Given the description of an element on the screen output the (x, y) to click on. 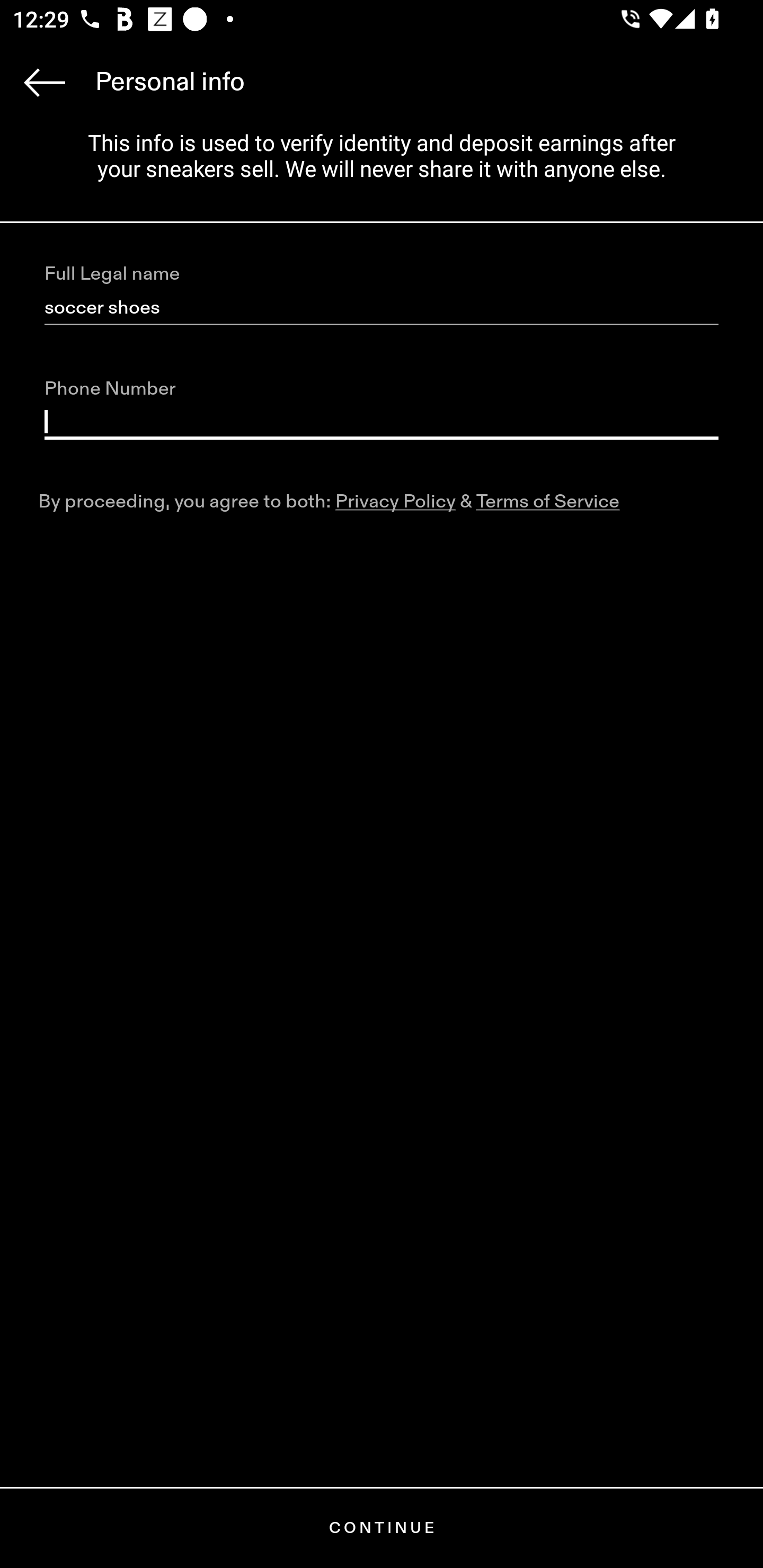
Navigate up (44, 82)
soccer shoes (381, 308)
Phone Number (381, 422)
CONTINUE (381, 1528)
